Given the description of an element on the screen output the (x, y) to click on. 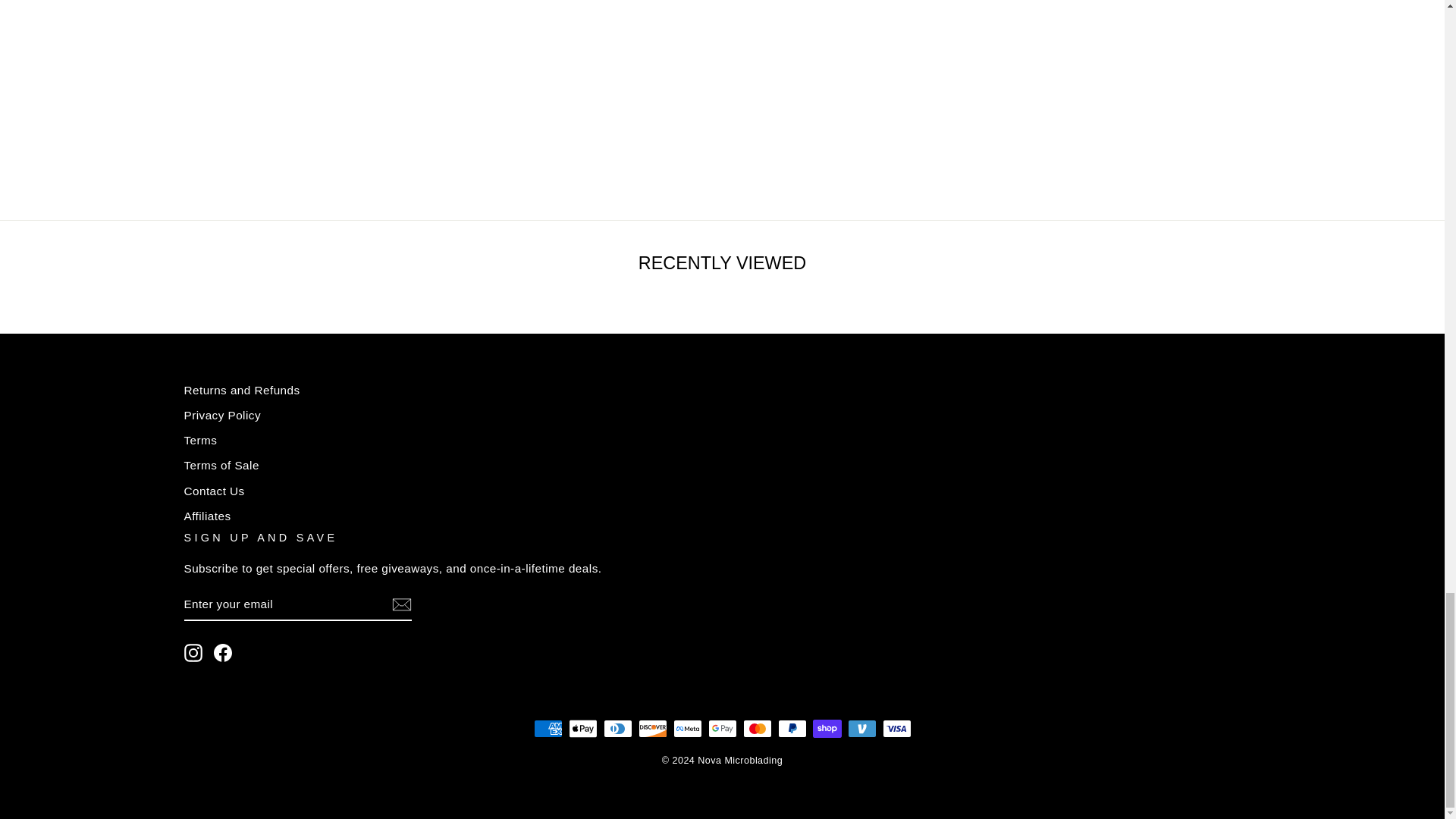
Discover (652, 728)
American Express (548, 728)
Apple Pay (582, 728)
Meta Pay (686, 728)
Diners Club (617, 728)
Nova Microblading on Instagram (192, 652)
Nova Microblading on Facebook (222, 652)
